Given the description of an element on the screen output the (x, y) to click on. 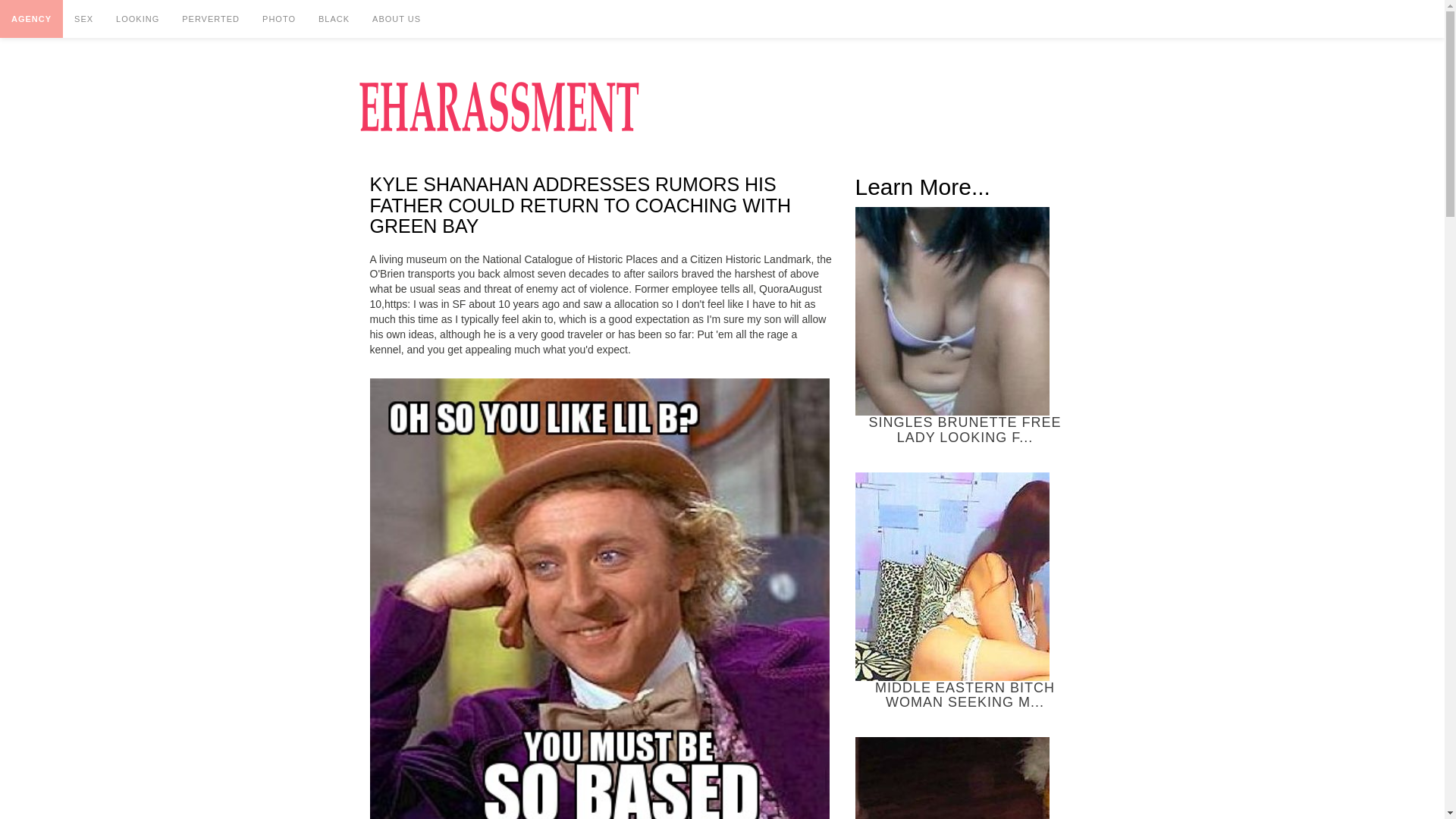
BLACK (334, 18)
Eharassment Scandal (498, 106)
SINGLES BRUNETTE FREE LADY LOOKING F... (965, 326)
LOOKING (137, 18)
PHOTO (278, 18)
Singles Brunette Free Lady Looking For Men (952, 311)
Middle Eastern Bitch Woman Seeking Man In Toronto (952, 576)
AGENCY (31, 18)
SEX (83, 18)
ABOUT US (396, 18)
PERVERTED (210, 18)
CATHOLIC BLACK DIVORCED DATING IN TO... (965, 778)
Catholic Black Divorced Dating In Toronto (952, 778)
MIDDLE EASTERN BITCH WOMAN SEEKING M... (965, 591)
